Given the description of an element on the screen output the (x, y) to click on. 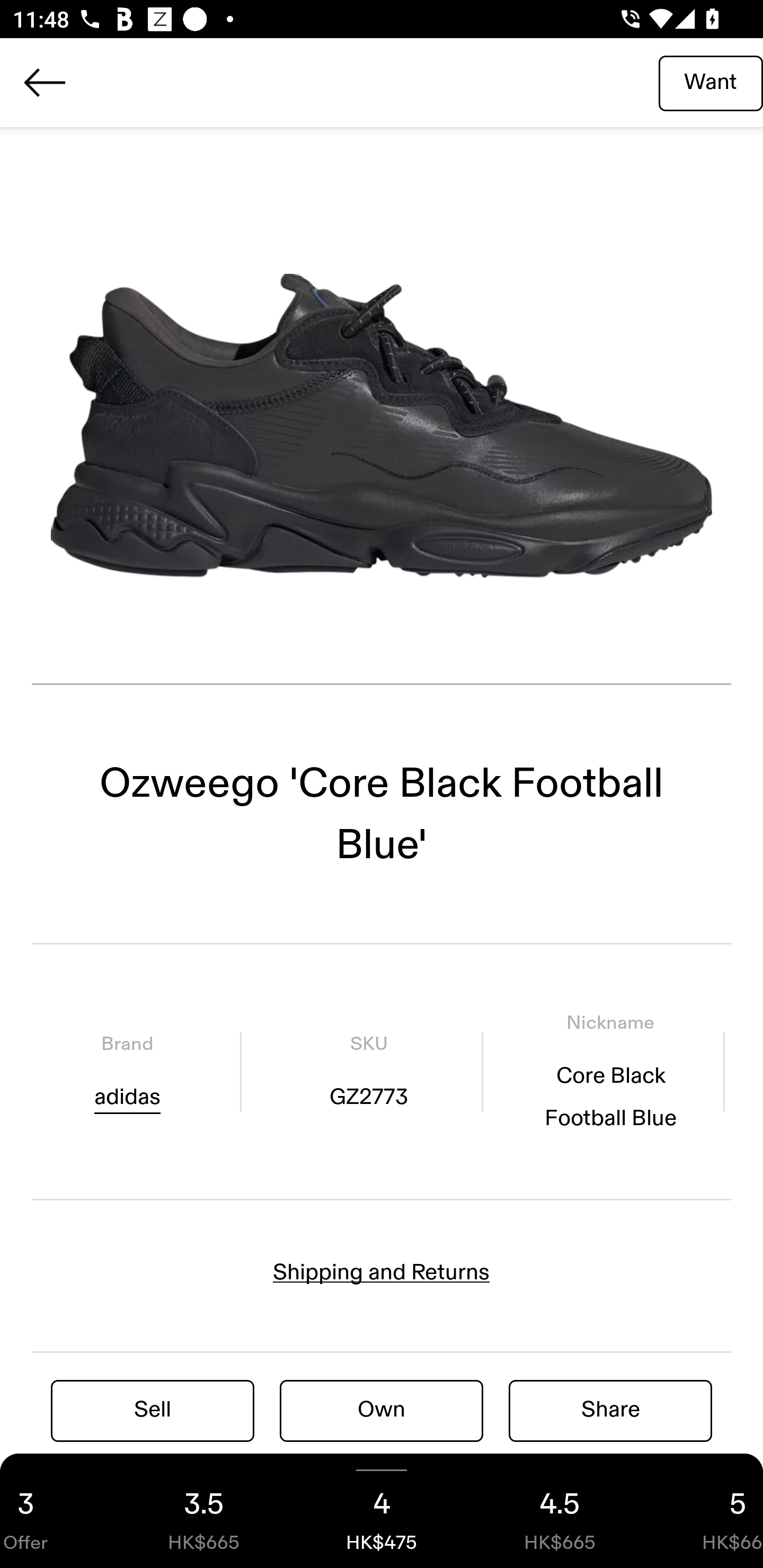
Want (710, 82)
Brand adidas (126, 1070)
SKU GZ2773 (368, 1070)
Nickname Core Black Football Blue (609, 1070)
Shipping and Returns (381, 1272)
Sell (152, 1410)
Own (381, 1410)
Share (609, 1410)
3.5 HK$665 (203, 1510)
4 HK$475 (381, 1510)
4.5 HK$665 (559, 1510)
5 HK$665 (705, 1510)
